Given the description of an element on the screen output the (x, y) to click on. 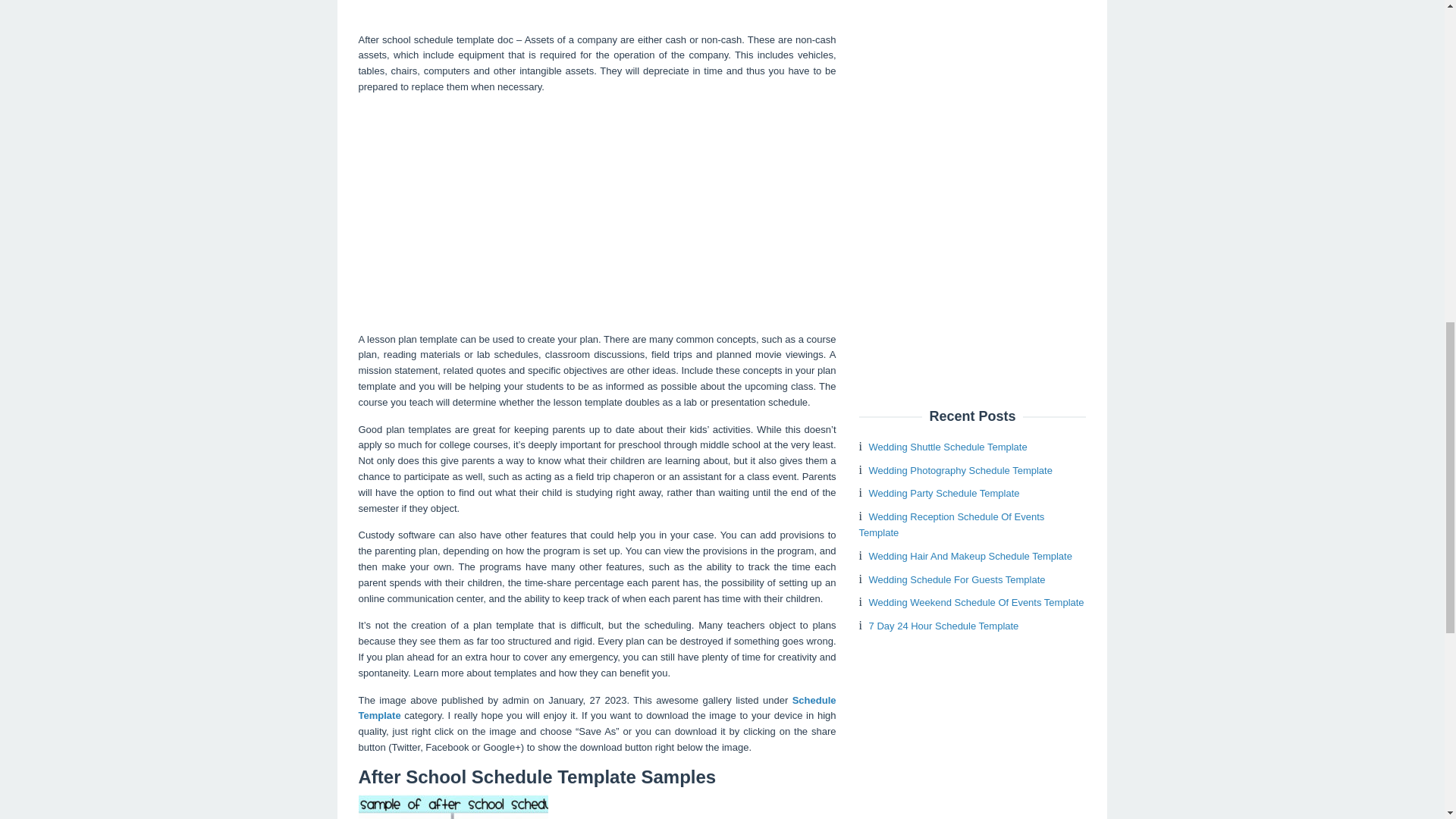
Wedding Shuttle Schedule Template (948, 446)
Wedding Weekend Schedule Of Events Template (976, 602)
Schedule Template (596, 707)
Wedding Reception Schedule Of Events Template (951, 524)
Wedding Photography Schedule Template (960, 470)
7 Day 24 Hour Schedule Template (944, 625)
Wedding Hair And Makeup Schedule Template (970, 555)
After School Schedule Template Doc (596, 10)
Wedding Schedule For Guests Template (957, 579)
Wedding Party Schedule Template (944, 492)
